Given the description of an element on the screen output the (x, y) to click on. 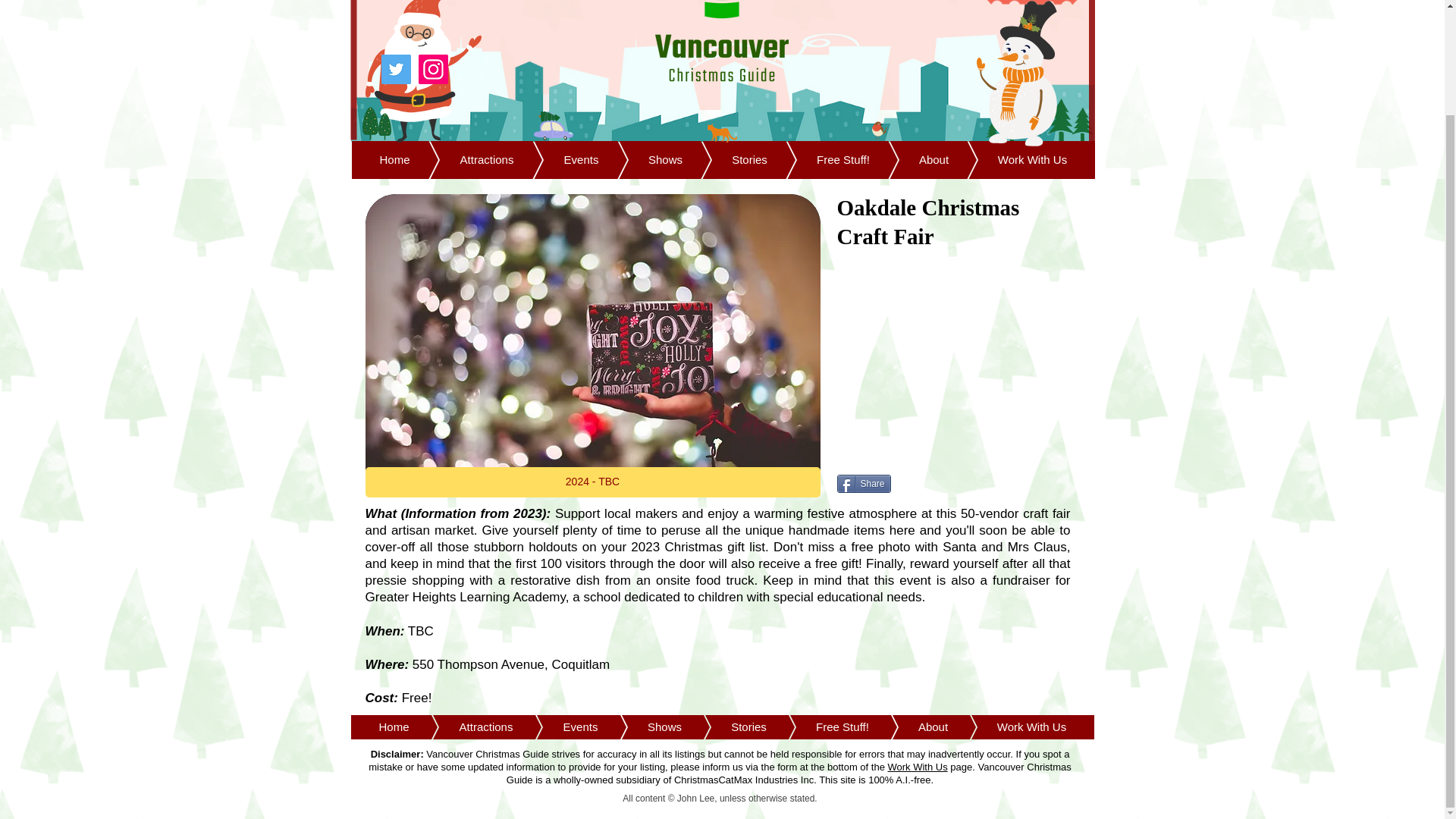
Share (864, 484)
Free Stuff! (819, 159)
Attractions (464, 159)
Events (557, 726)
Share (864, 484)
Home (395, 159)
Stories (726, 726)
Work With Us (1009, 159)
Free Stuff! (819, 726)
Home (393, 726)
About (909, 726)
Stories (726, 159)
Shows (642, 159)
Events (557, 159)
Attractions (462, 726)
